Given the description of an element on the screen output the (x, y) to click on. 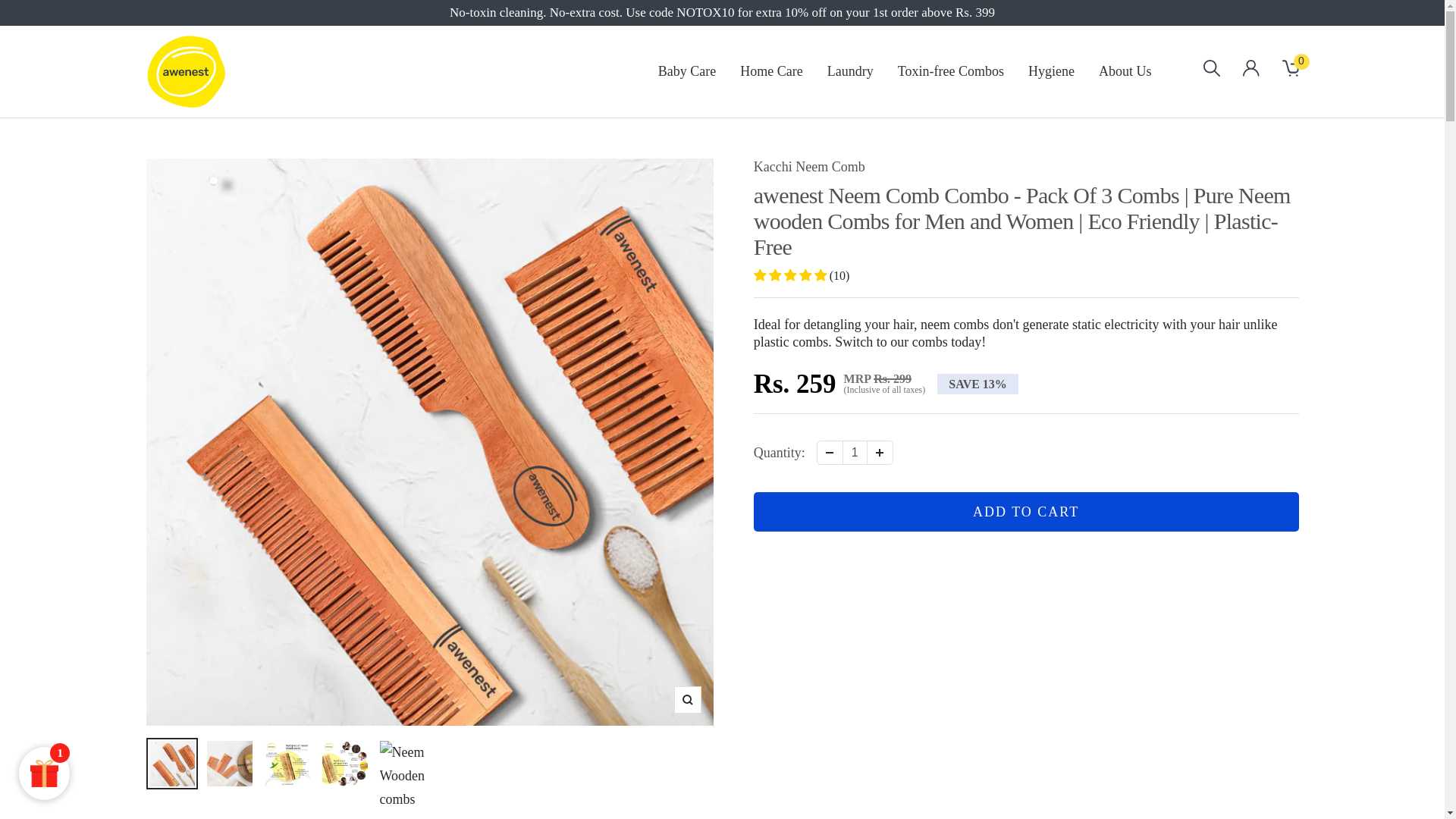
Toxin-free Combos (951, 71)
1 (855, 452)
Laundry (850, 71)
ADD TO CART (1026, 511)
Decrease quantity (829, 452)
Home Care (770, 71)
Hygiene (1050, 71)
awenest (185, 71)
Increase quantity (879, 452)
Zoom (686, 699)
About Us (1125, 71)
Baby Care (687, 71)
